Given the description of an element on the screen output the (x, y) to click on. 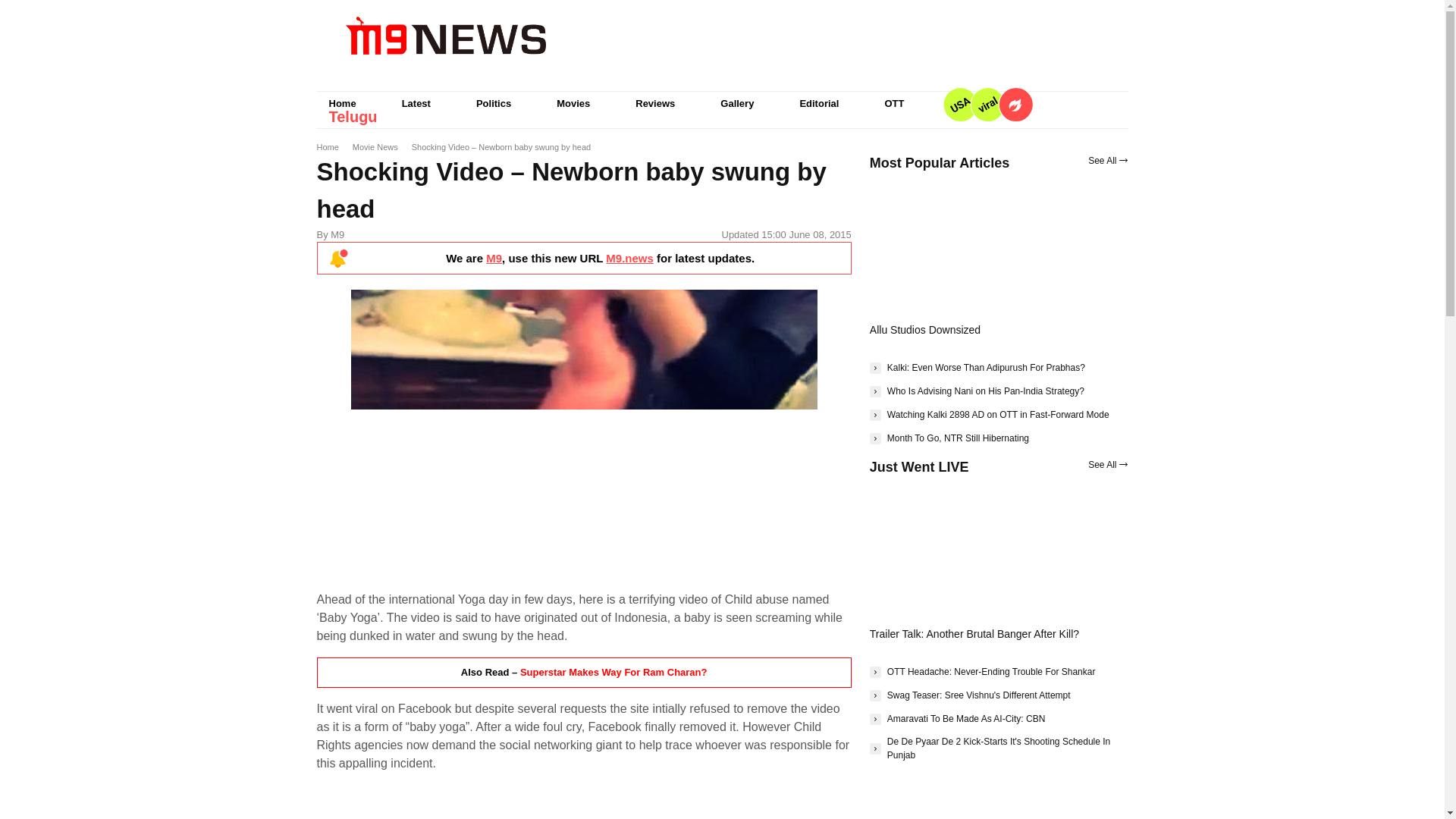
Movie News (374, 146)
Allu Studios Downsized (924, 329)
Home (342, 102)
See All (1106, 160)
M9.news (629, 257)
Gallery (736, 102)
Home (328, 146)
Kalki: Even Worse Than Adipurush For Prabhas? (976, 367)
Month To Go, NTR Still Hibernating (949, 438)
Who Is Advising Nani on His Pan-India Strategy? (976, 391)
